Given the description of an element on the screen output the (x, y) to click on. 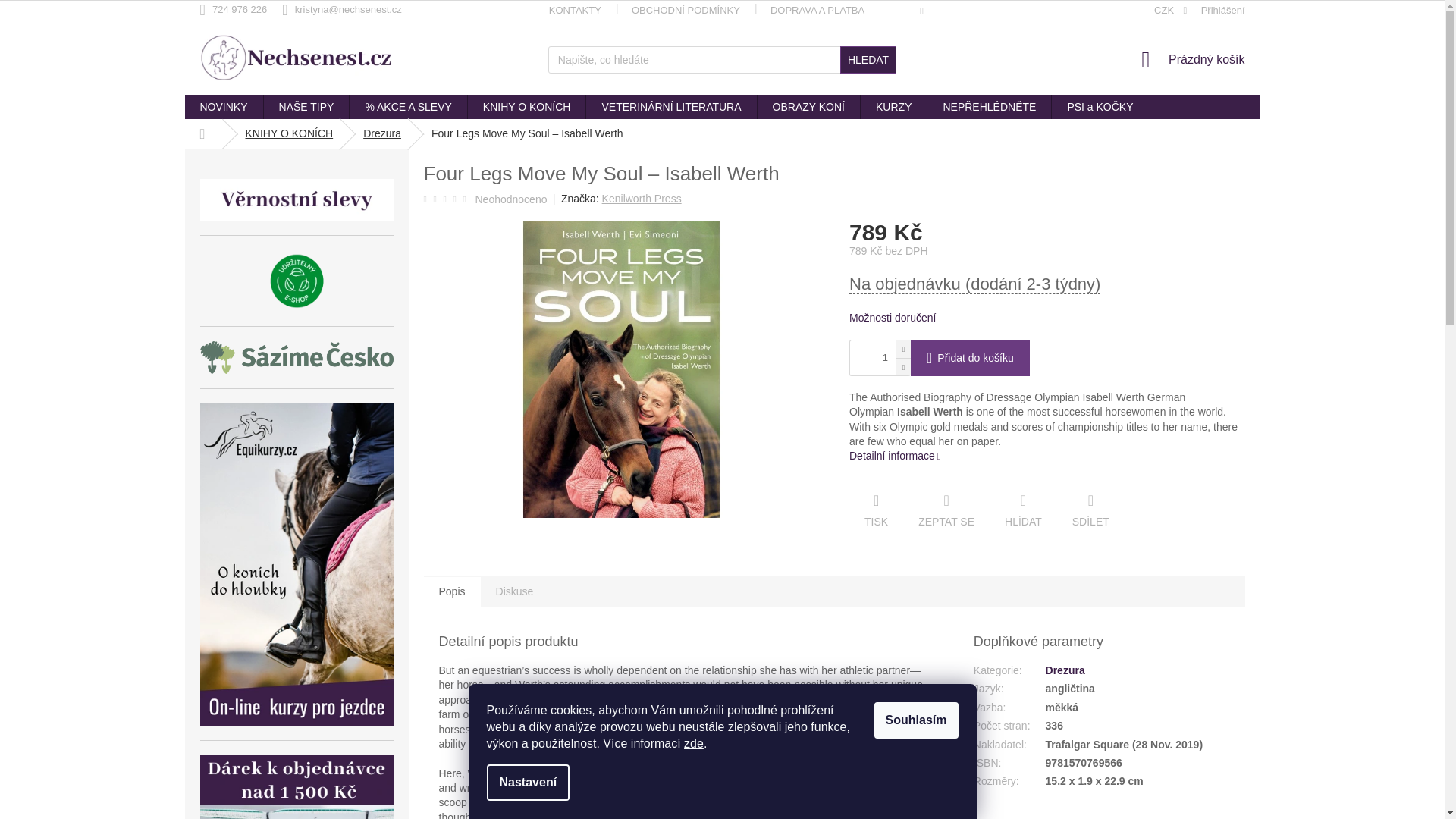
CZK (1171, 10)
Dostupnost (1046, 283)
724 976 226 (241, 9)
Mluvit s prodejcem (946, 511)
HLEDAT (868, 59)
NOVINKY (223, 106)
KONTAKTY (574, 10)
1 (869, 357)
DOPRAVA A PLATBA (817, 10)
Tisknout produkt (875, 511)
